Given the description of an element on the screen output the (x, y) to click on. 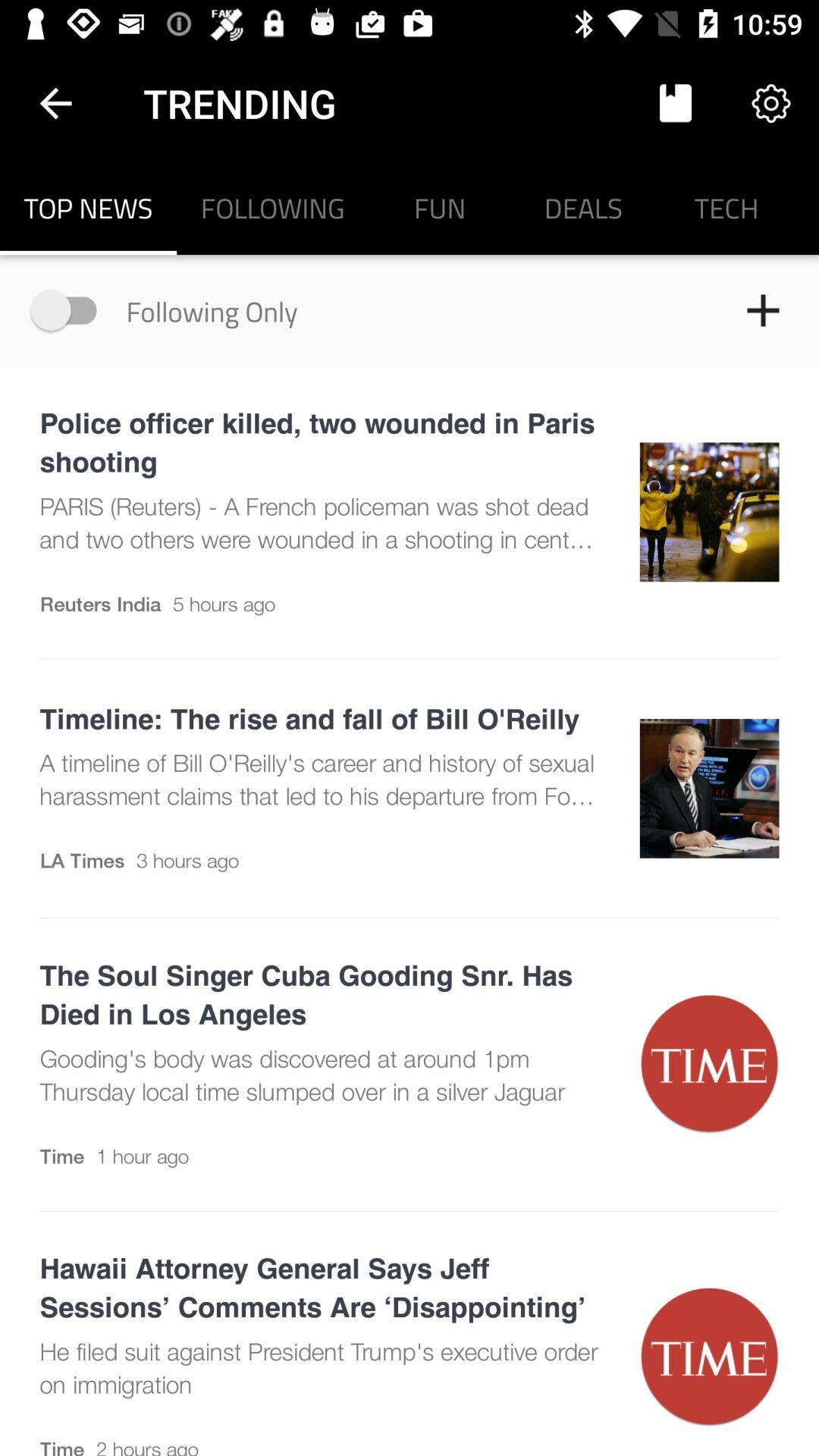
select the item to the left of the following only item (70, 310)
